Given the description of an element on the screen output the (x, y) to click on. 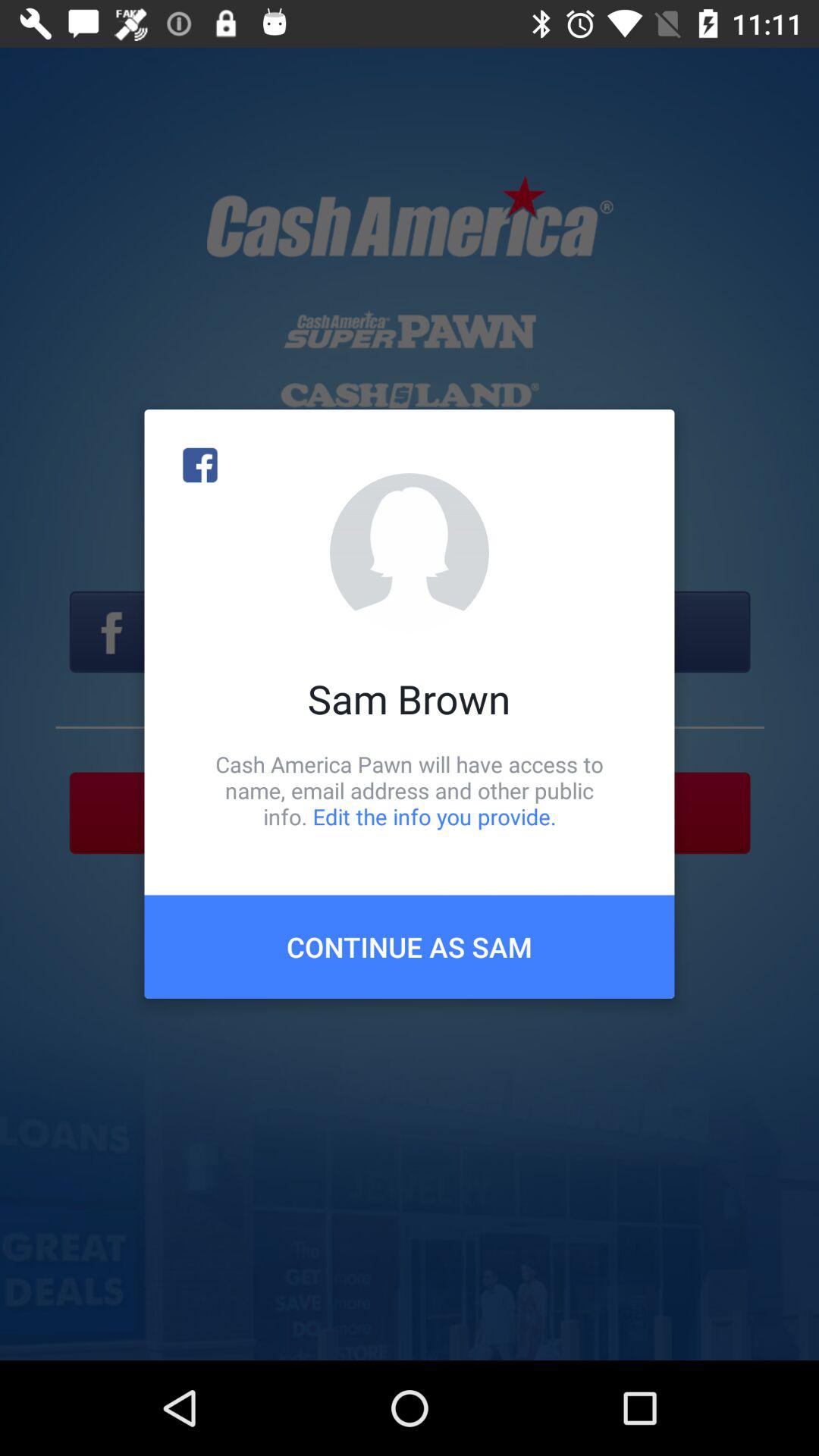
turn on cash america pawn (409, 790)
